Given the description of an element on the screen output the (x, y) to click on. 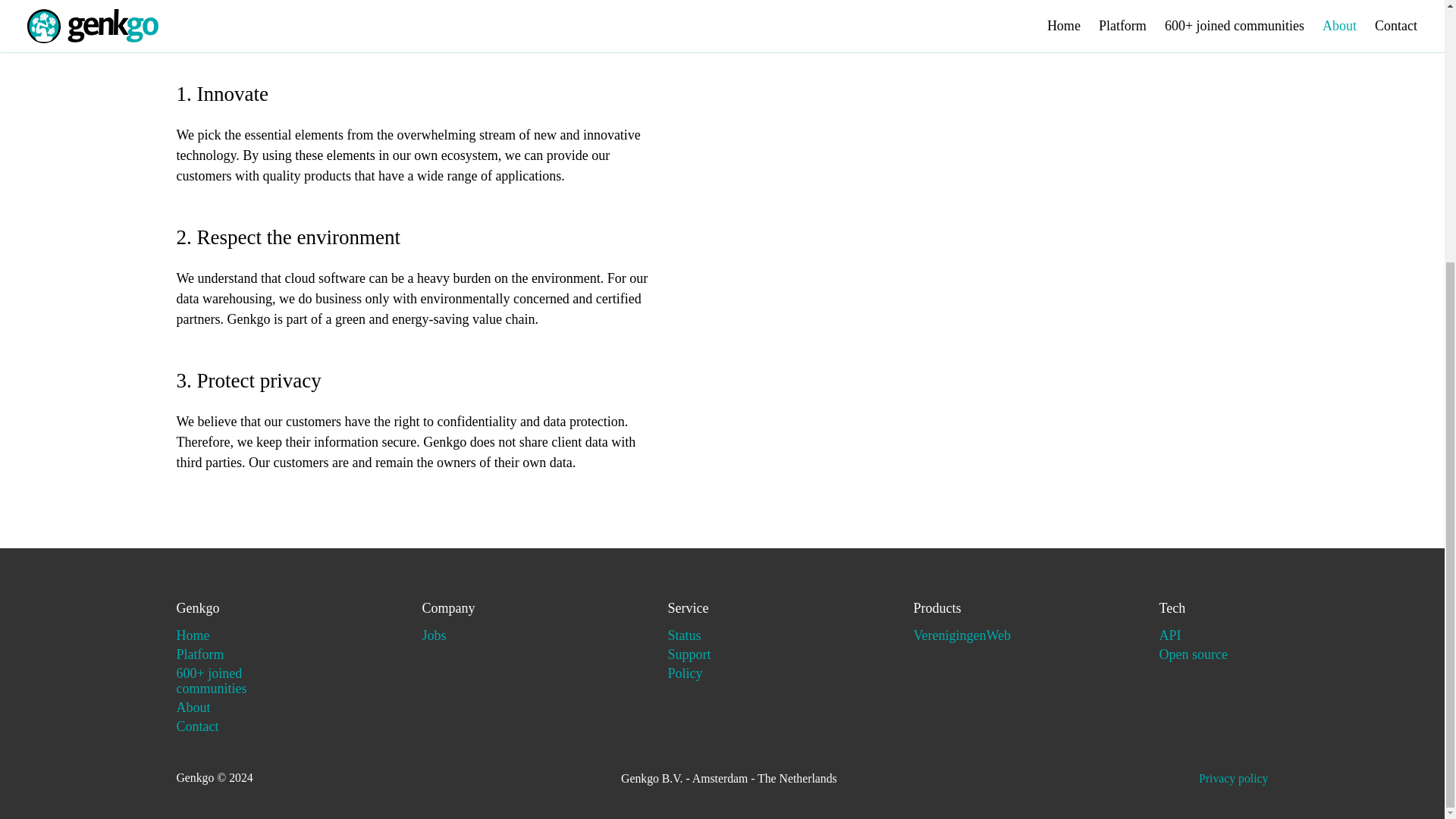
VerenigingenWeb (961, 635)
Status (683, 635)
Jobs (433, 635)
About (192, 707)
API (1169, 635)
Contact (197, 726)
Privacy policy (1233, 778)
Platform (200, 654)
Open source (1192, 654)
Home (192, 635)
